Given the description of an element on the screen output the (x, y) to click on. 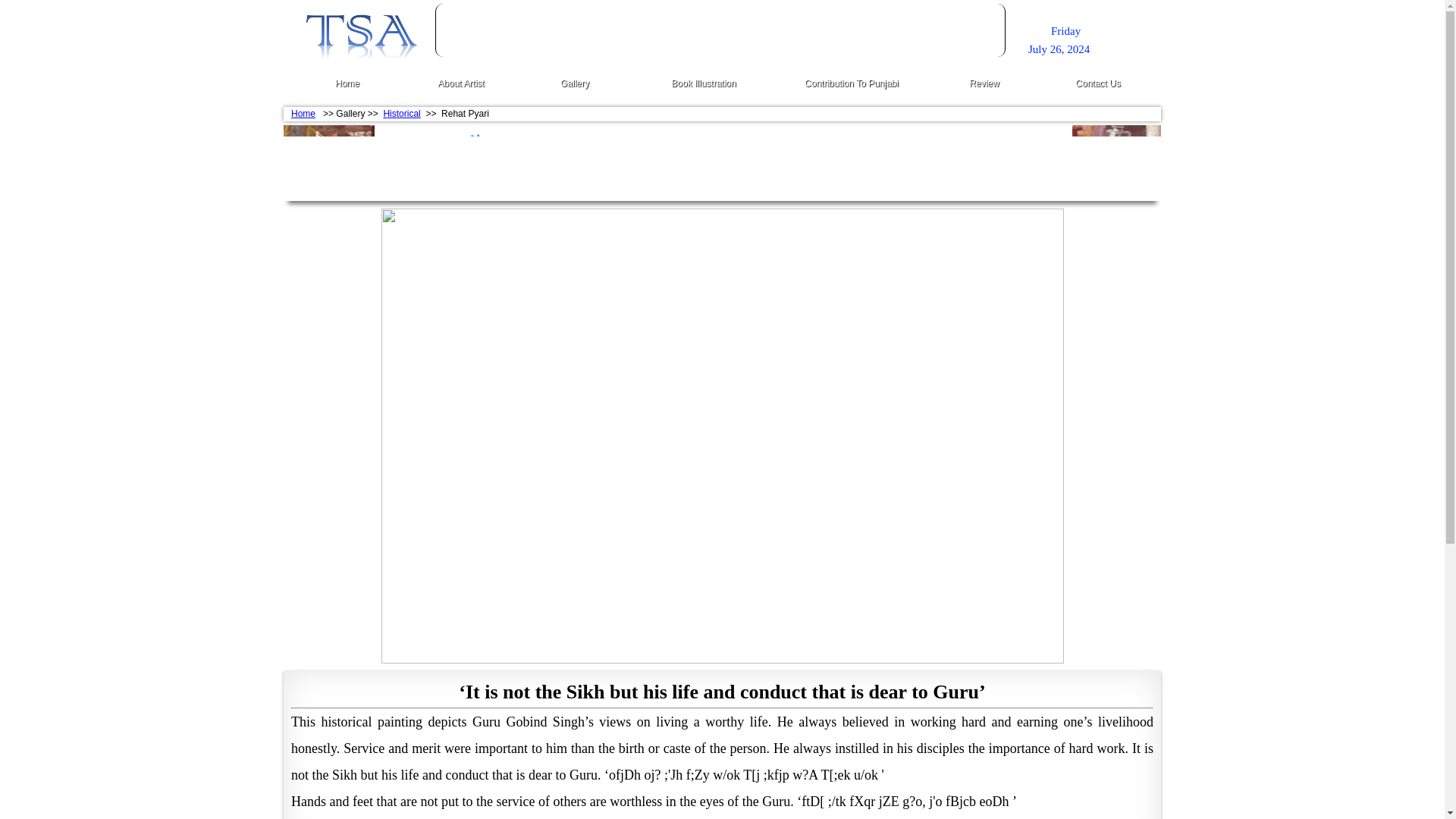
Gallery (574, 80)
Contribution To Punjabi (851, 80)
About Artist (461, 80)
Home (303, 113)
Book Illustration (703, 80)
Review (984, 80)
Contact Us (1097, 80)
Historical (401, 113)
Home (346, 80)
